Given the description of an element on the screen output the (x, y) to click on. 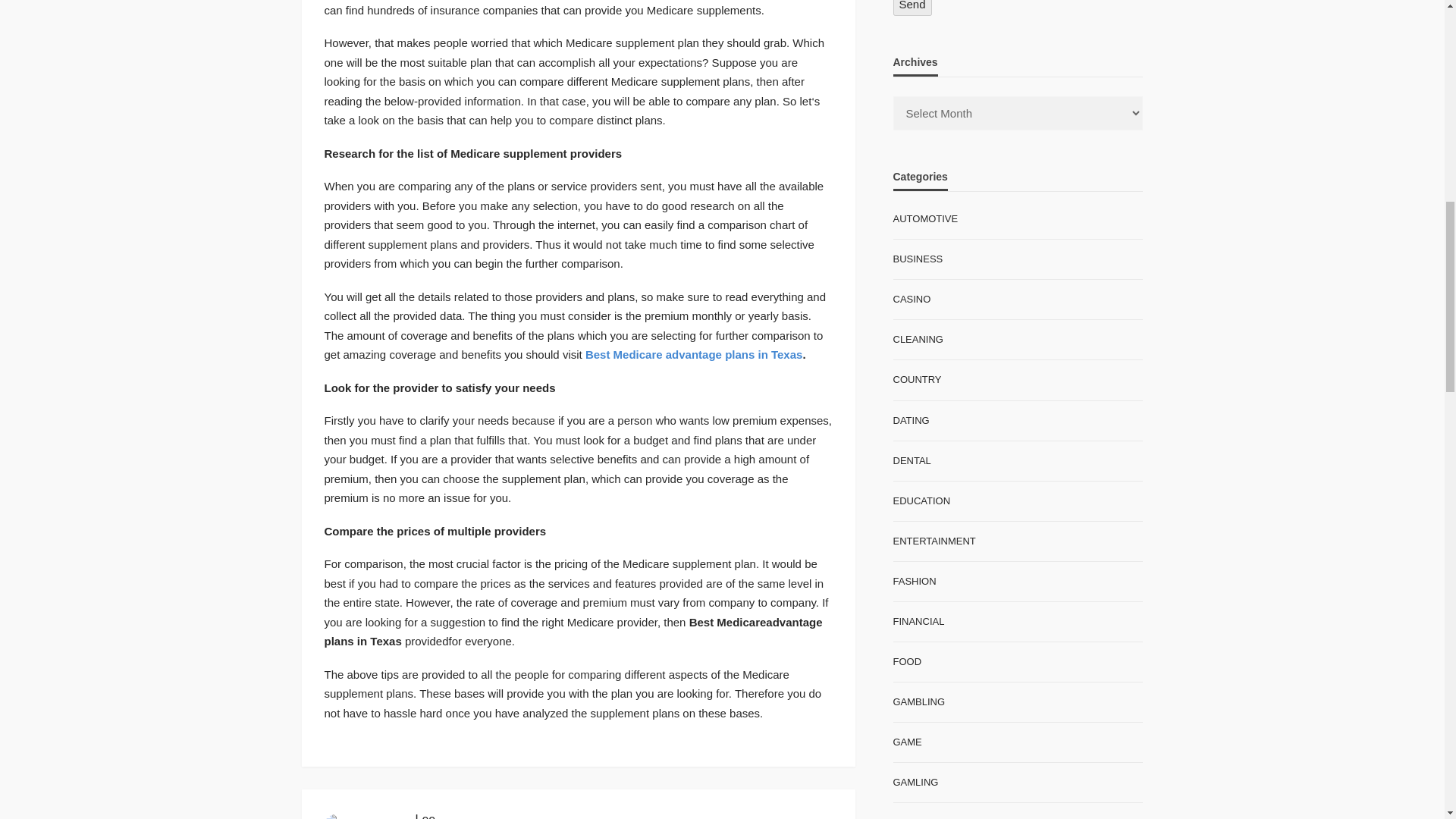
Best Medicare advantage plans in Texas (694, 354)
Lee (424, 815)
Send (912, 8)
